Given the description of an element on the screen output the (x, y) to click on. 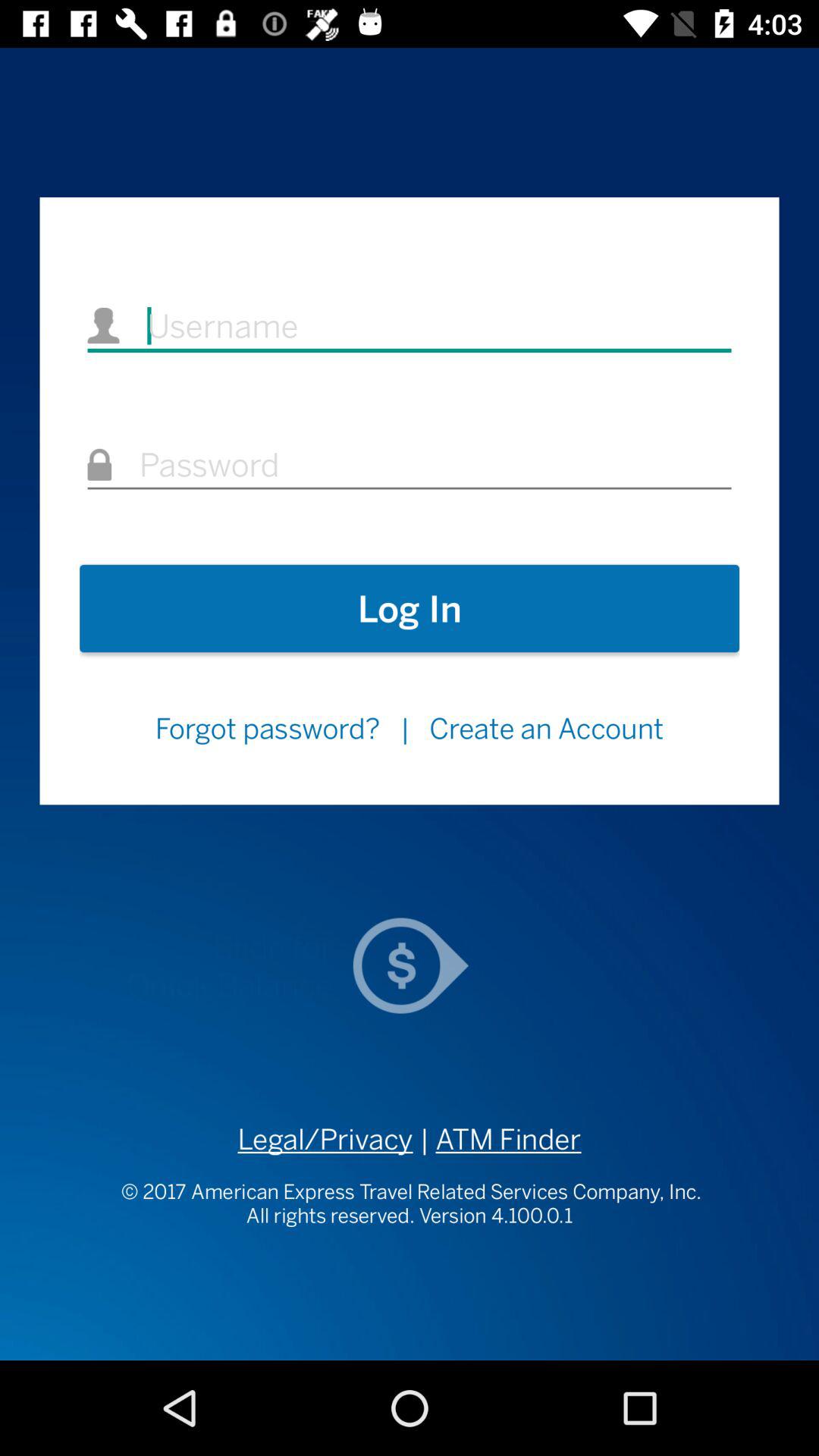
flip until the  | atm finder item (497, 1138)
